Given the description of an element on the screen output the (x, y) to click on. 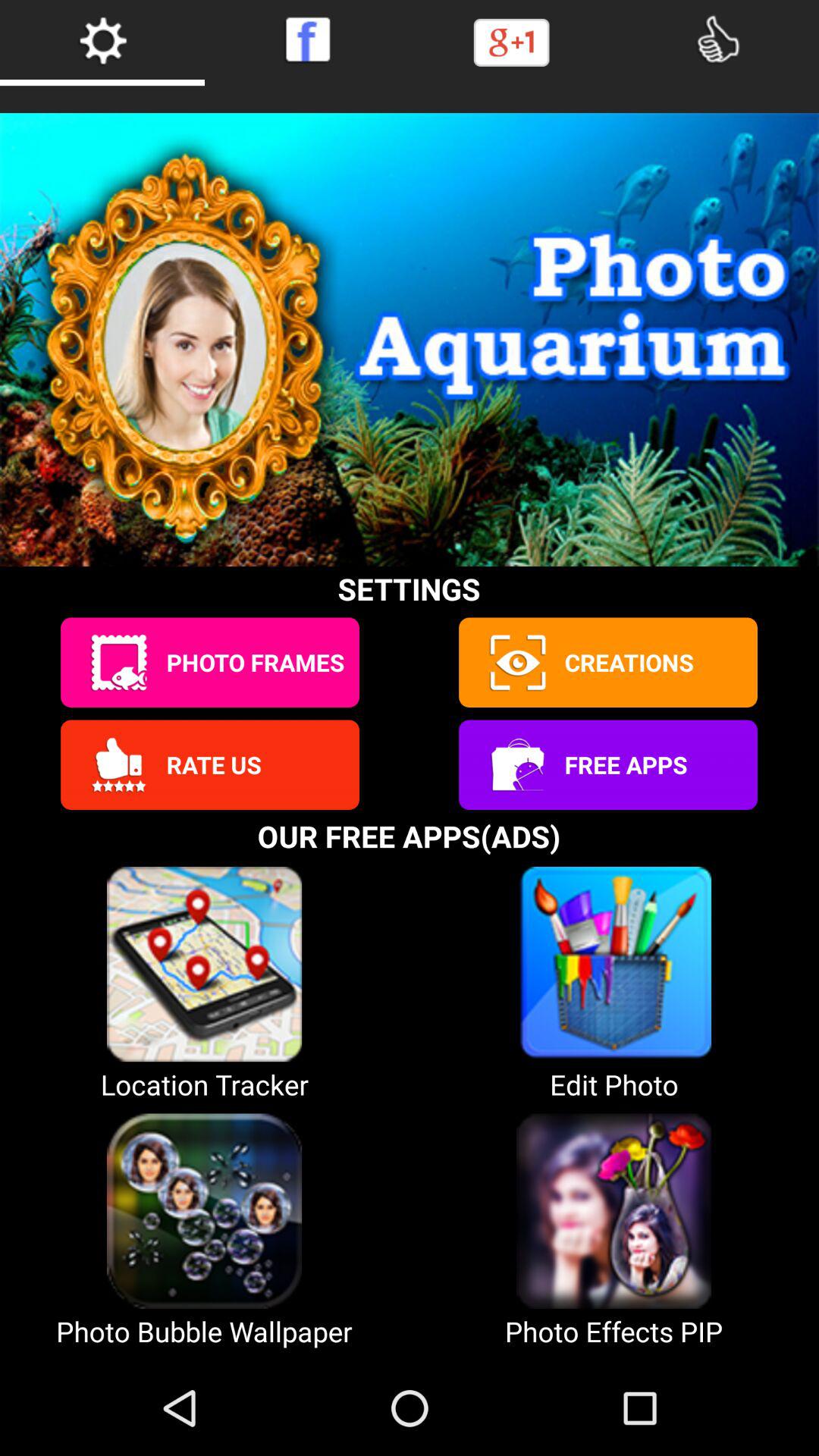
rate app (118, 764)
